Given the description of an element on the screen output the (x, y) to click on. 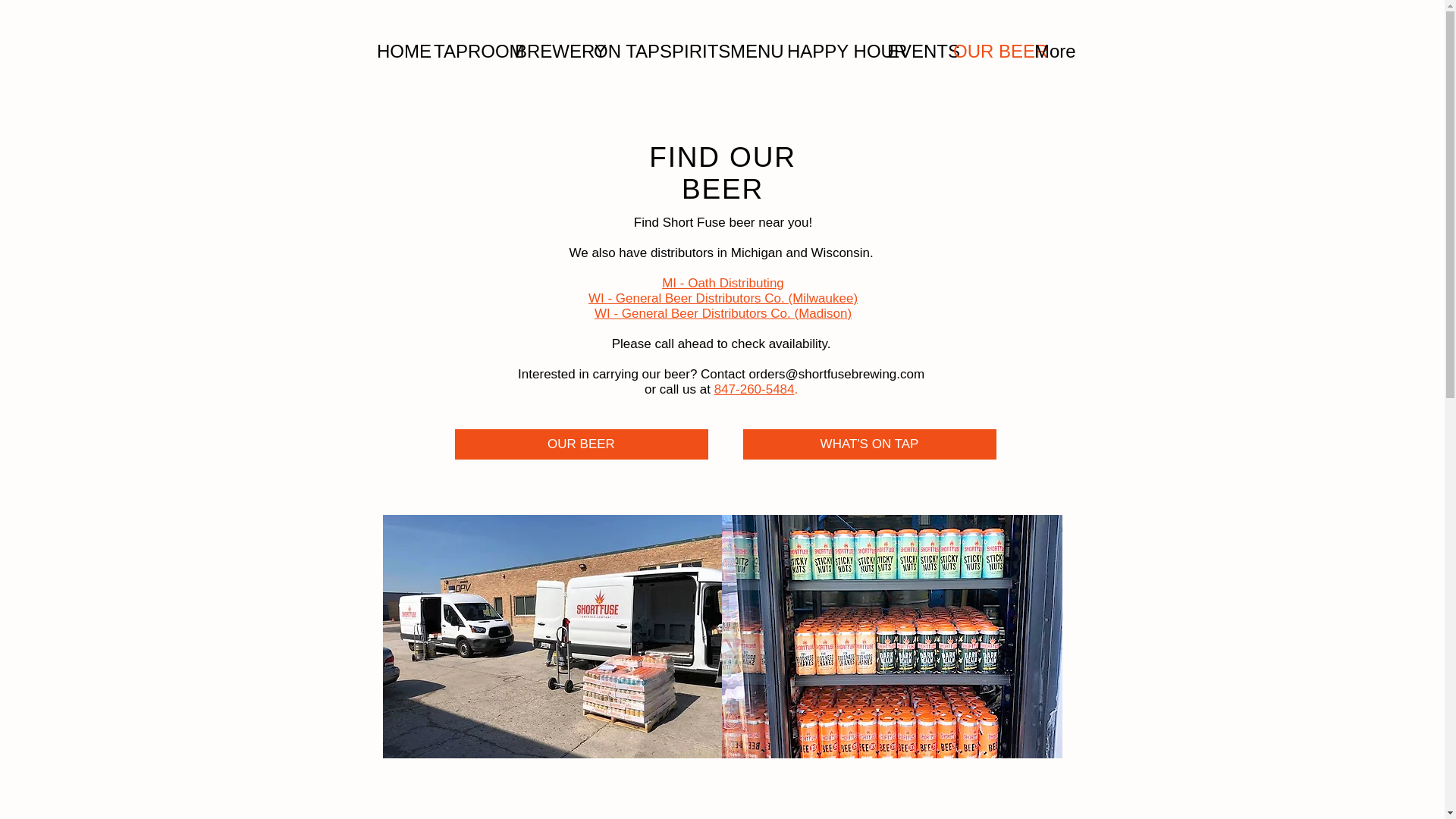
EVENTS (909, 51)
or call us at  (679, 389)
MENU (747, 51)
ON TAP (614, 51)
WHAT'S ON TAP (868, 444)
847-260-5484 (754, 389)
OUR BEER (982, 51)
SPIRITS (683, 51)
OUR BEER (580, 444)
MI - Oath Distributing (723, 283)
